Given the description of an element on the screen output the (x, y) to click on. 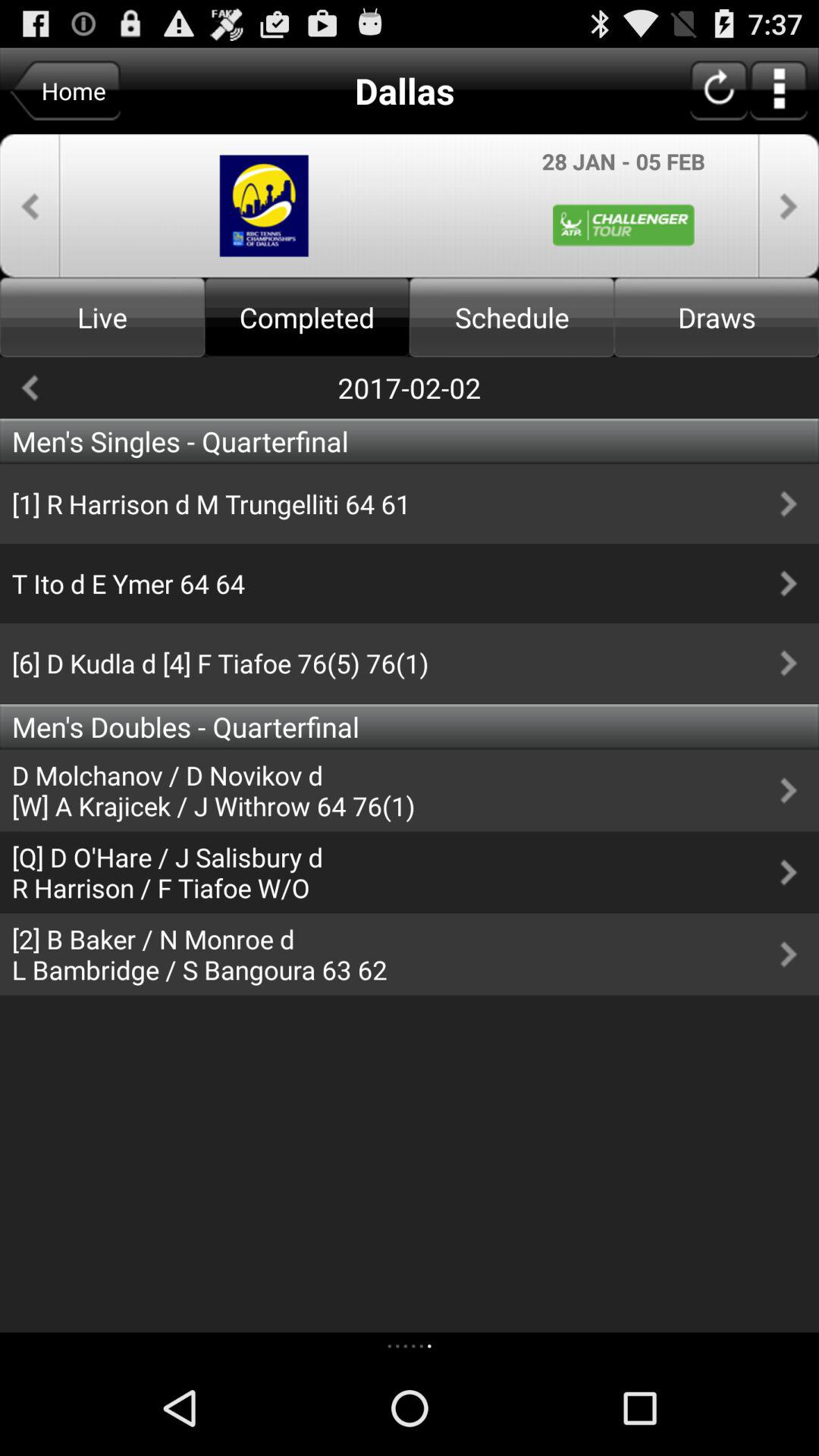
click on the button which is next to the green icon (789, 205)
click on completed (306, 317)
click the home button (65, 90)
click on the button next to schedule (716, 317)
click on draws which is next to schedule (716, 317)
click on the button which is next to the completed (511, 317)
